Given the description of an element on the screen output the (x, y) to click on. 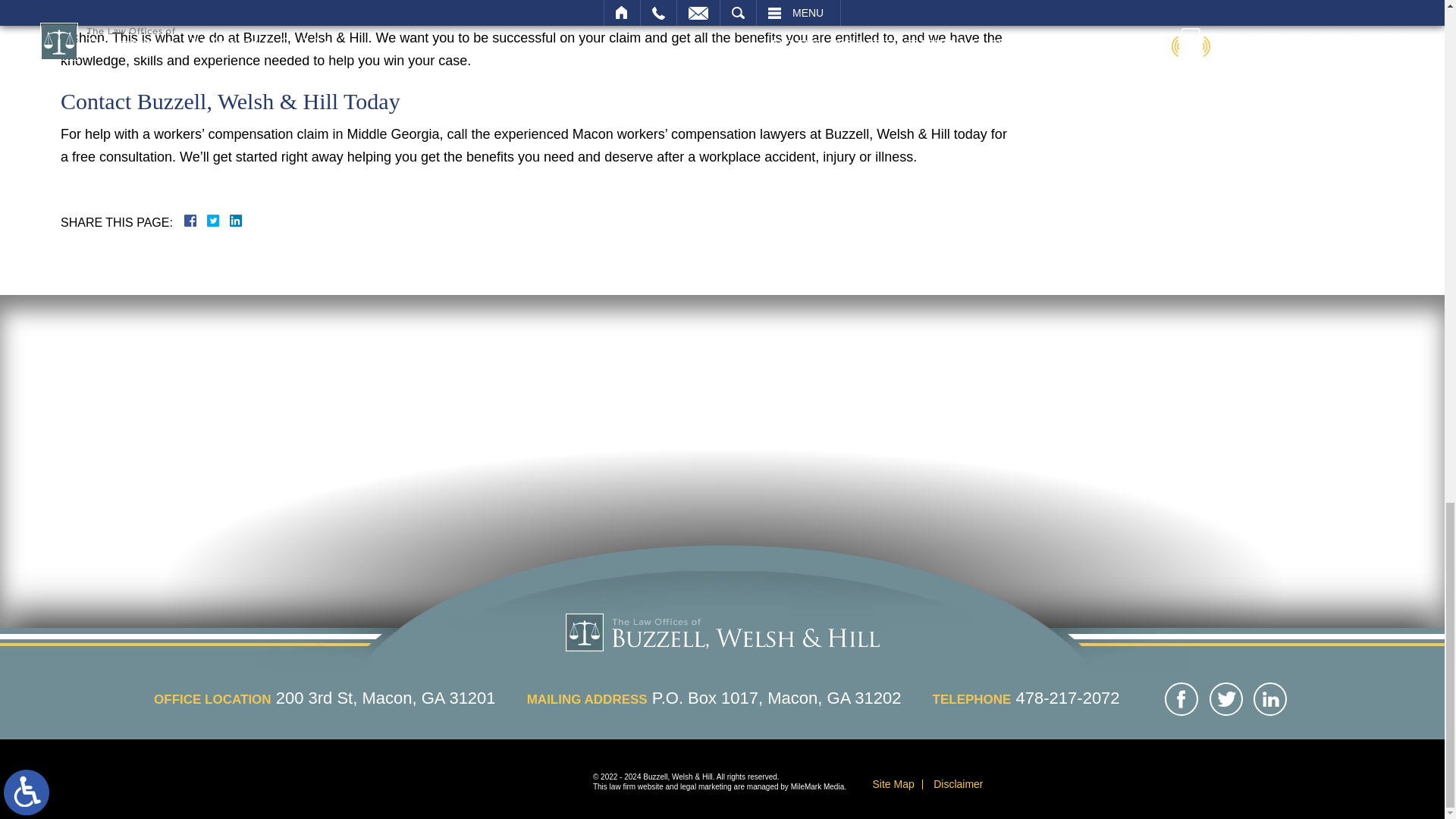
LinkedIn (229, 220)
Twitter (219, 220)
Facebook (208, 220)
